Given the description of an element on the screen output the (x, y) to click on. 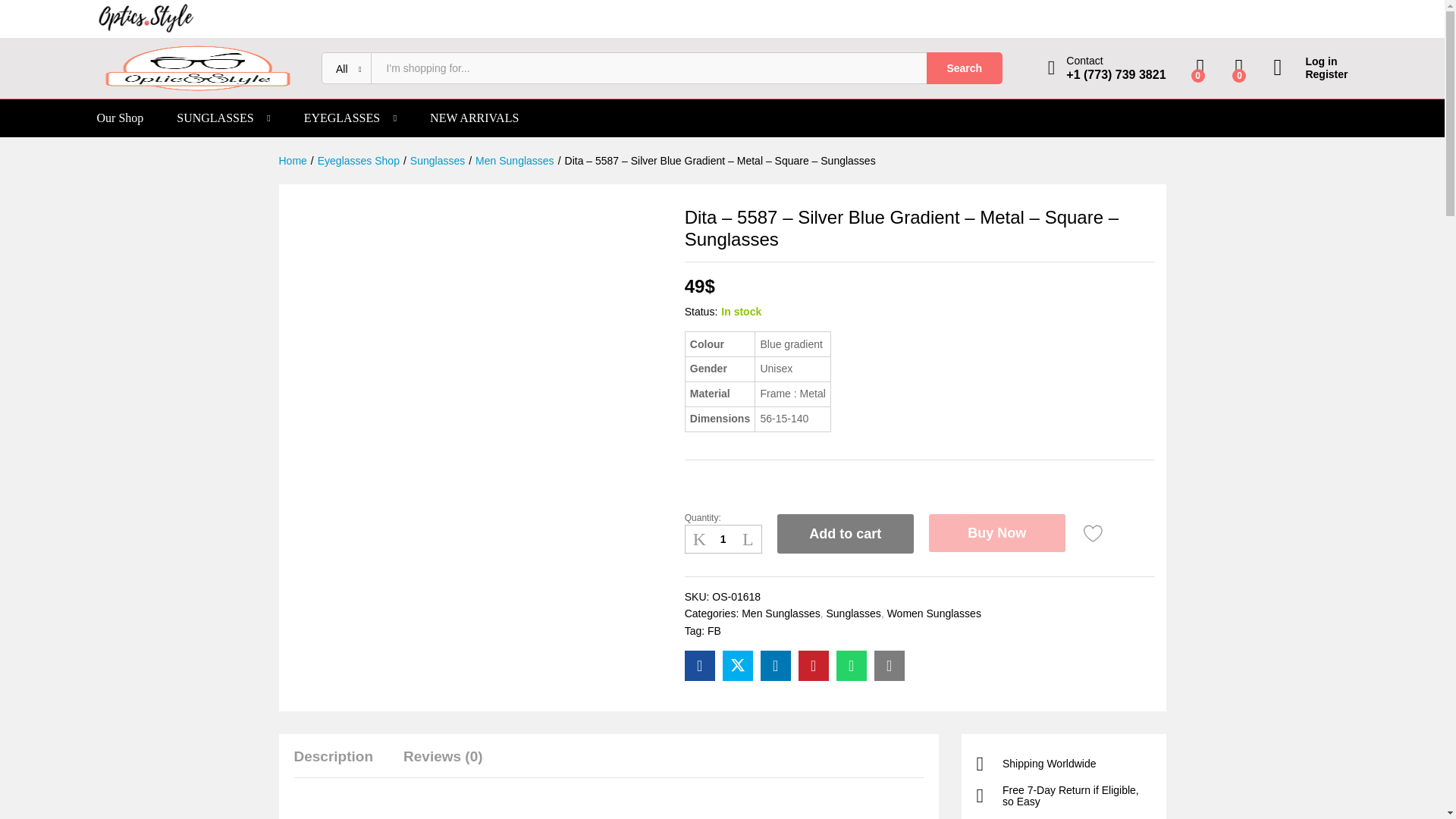
Register (1310, 74)
Home (293, 160)
Eyeglasses Shop (357, 160)
Wishlist (1093, 533)
Men Sunglasses (515, 160)
Women Sunglasses (933, 613)
Log in (1310, 61)
Men Sunglasses (781, 613)
Search (964, 68)
Sunglasses (437, 160)
1 (722, 538)
Sunglasses (852, 613)
Buy Now (996, 533)
Qty (722, 538)
NEW ARRIVALS (473, 118)
